Given the description of an element on the screen output the (x, y) to click on. 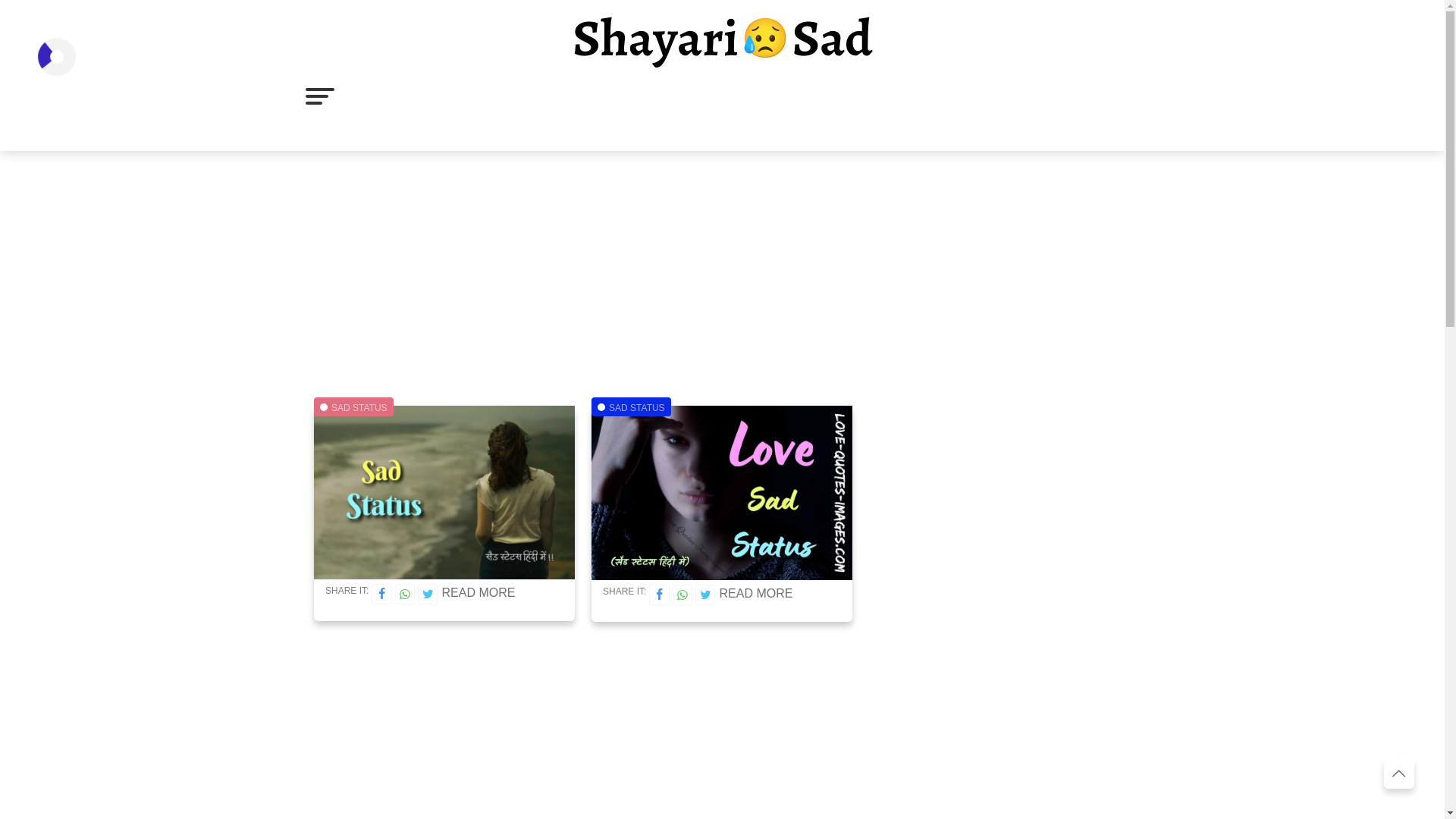
HOME (375, 94)
EMOTIONAL SHAYARI (782, 94)
Advertisement (721, 745)
READ MORE (478, 592)
READ MORE (755, 593)
SAD SHAYARI (452, 94)
SAD STATUS (636, 407)
SAD STATUS (359, 407)
ALONE SHAYARI (559, 94)
SHARE IT: (343, 590)
SHARE IT: (620, 591)
LOVE SHAYARI (398, 131)
SAD STATUS (664, 94)
